Given the description of an element on the screen output the (x, y) to click on. 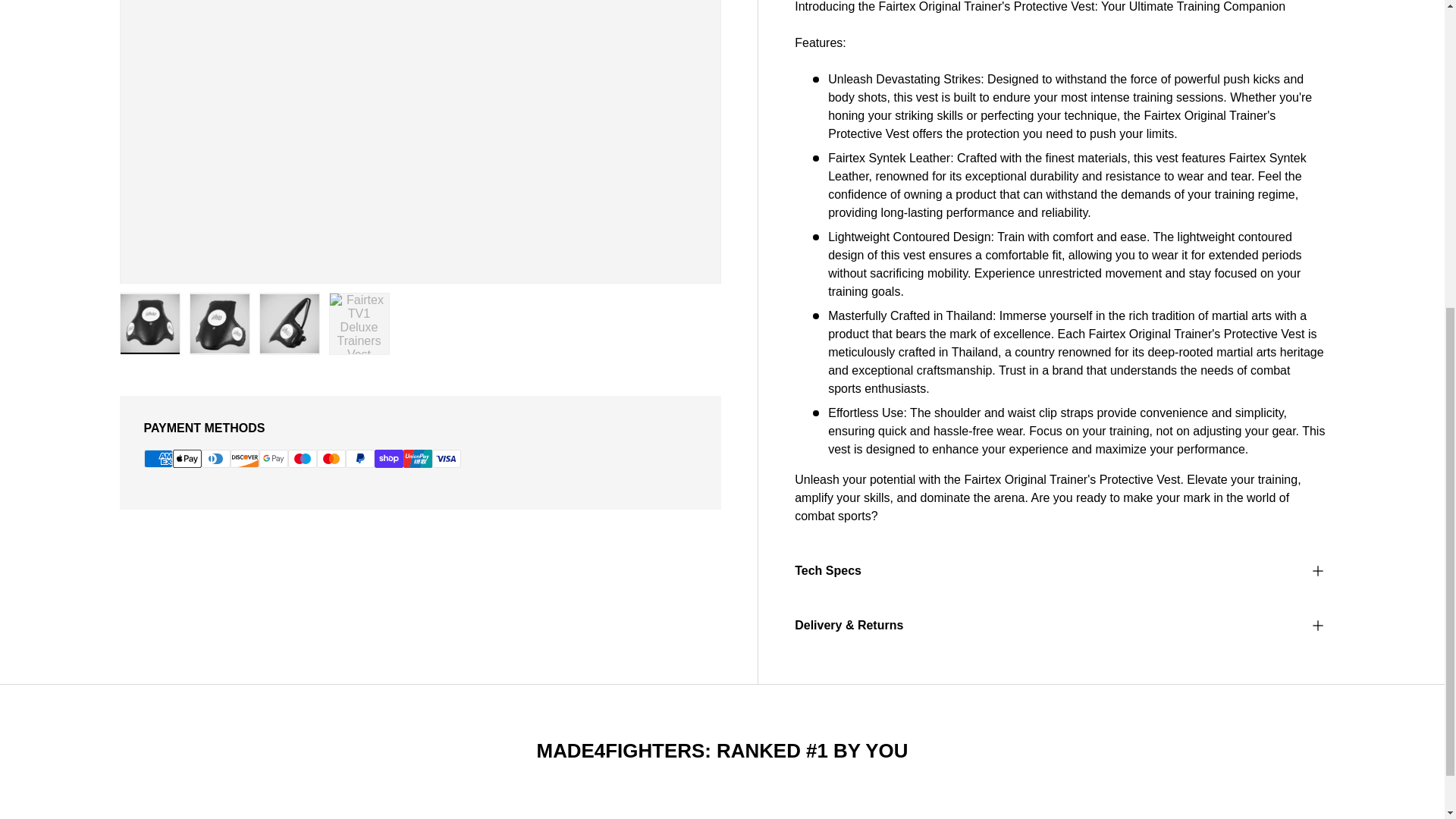
American Express (158, 458)
